Given the description of an element on the screen output the (x, y) to click on. 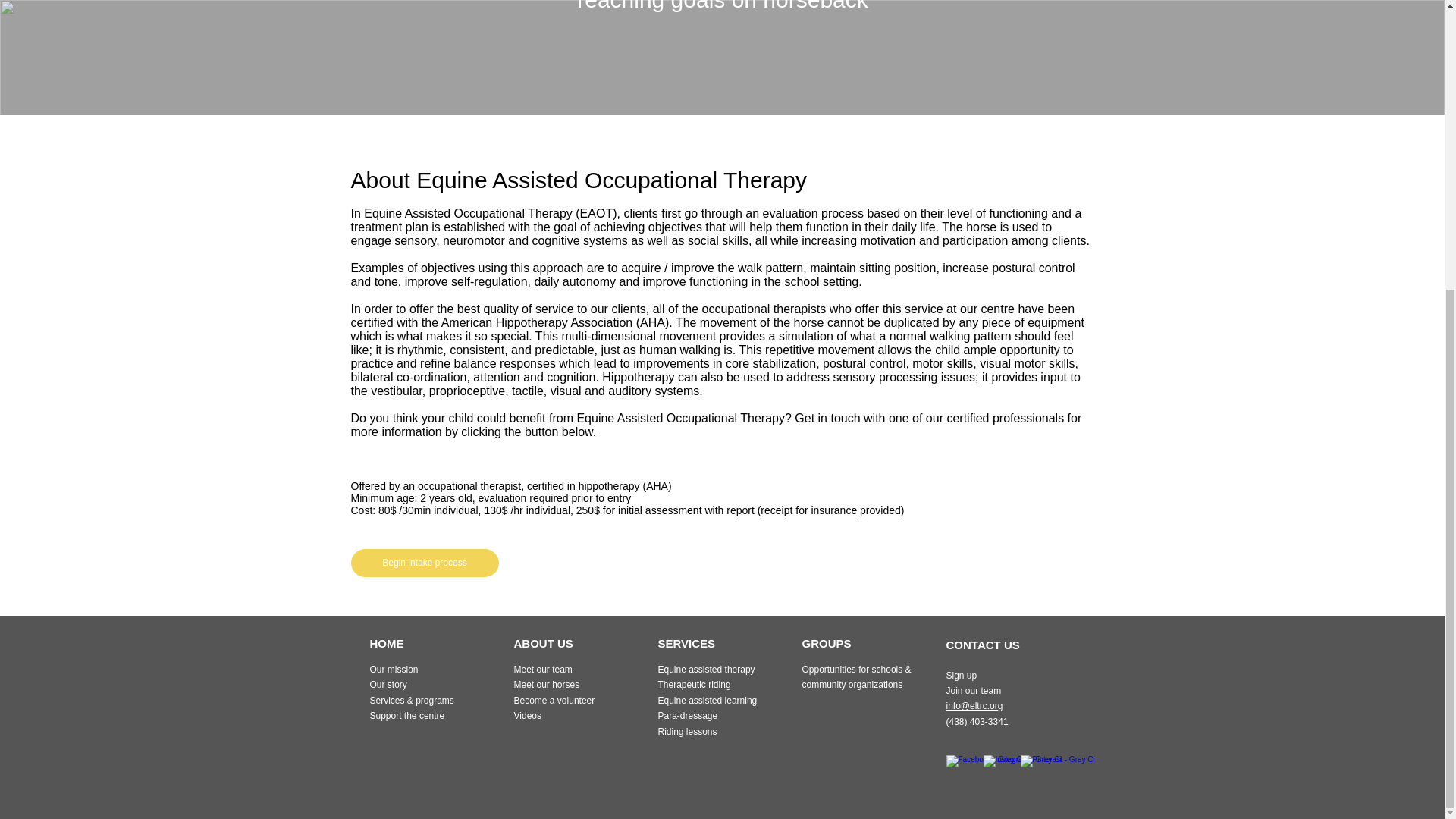
CONTACT US (983, 644)
SERVICES (687, 643)
Videos (527, 715)
HOME (386, 643)
Begin intake process (423, 562)
Equine assisted therapy (706, 669)
Equine assisted learning (707, 700)
Para-dressage (687, 715)
Riding lessons (687, 731)
ABOUT US (543, 643)
